Given the description of an element on the screen output the (x, y) to click on. 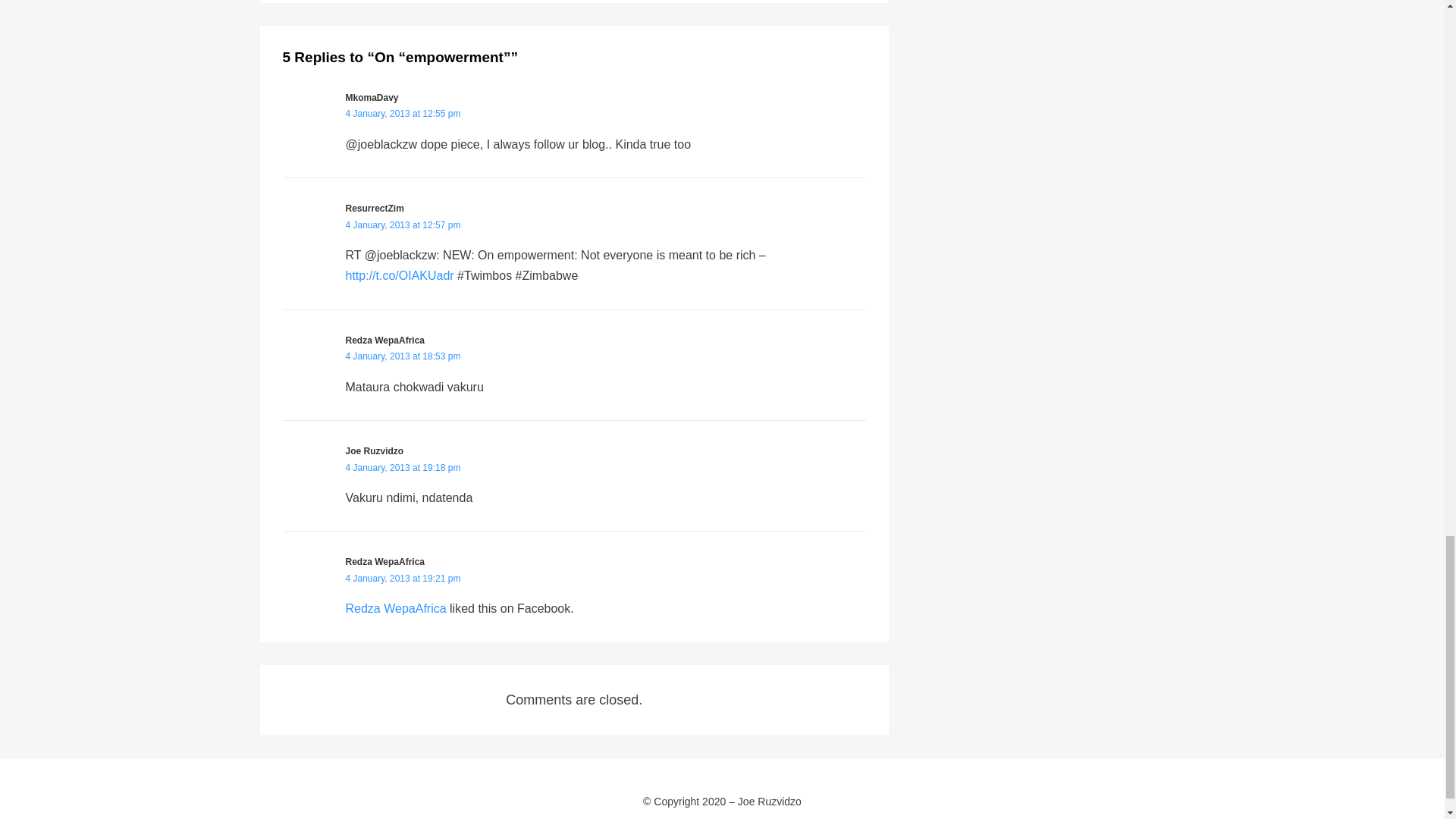
4 January, 2013 at 18:53 pm (403, 356)
WordPress (493, 818)
Redza WepaAfrica (385, 339)
ResurrectZim (375, 208)
BestBlogThemes (378, 818)
4 January, 2013 at 12:55 pm (403, 113)
MkomaDavy (372, 97)
4 January, 2013 at 12:57 pm (403, 225)
Joe Ruzvidzo (375, 450)
